Given the description of an element on the screen output the (x, y) to click on. 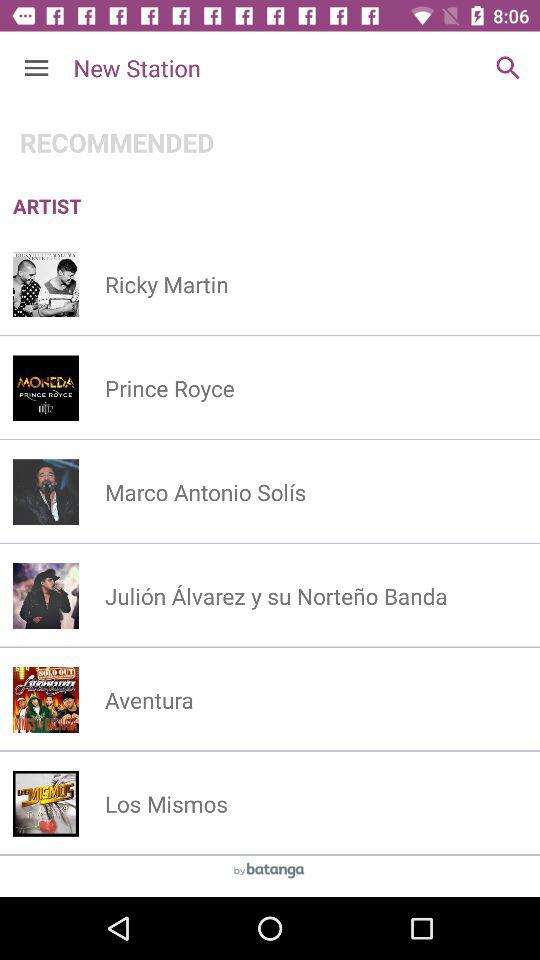
go to left of third option (45, 491)
click on first image from top (45, 283)
click on the fourth image in display from recommended (45, 595)
